Given the description of an element on the screen output the (x, y) to click on. 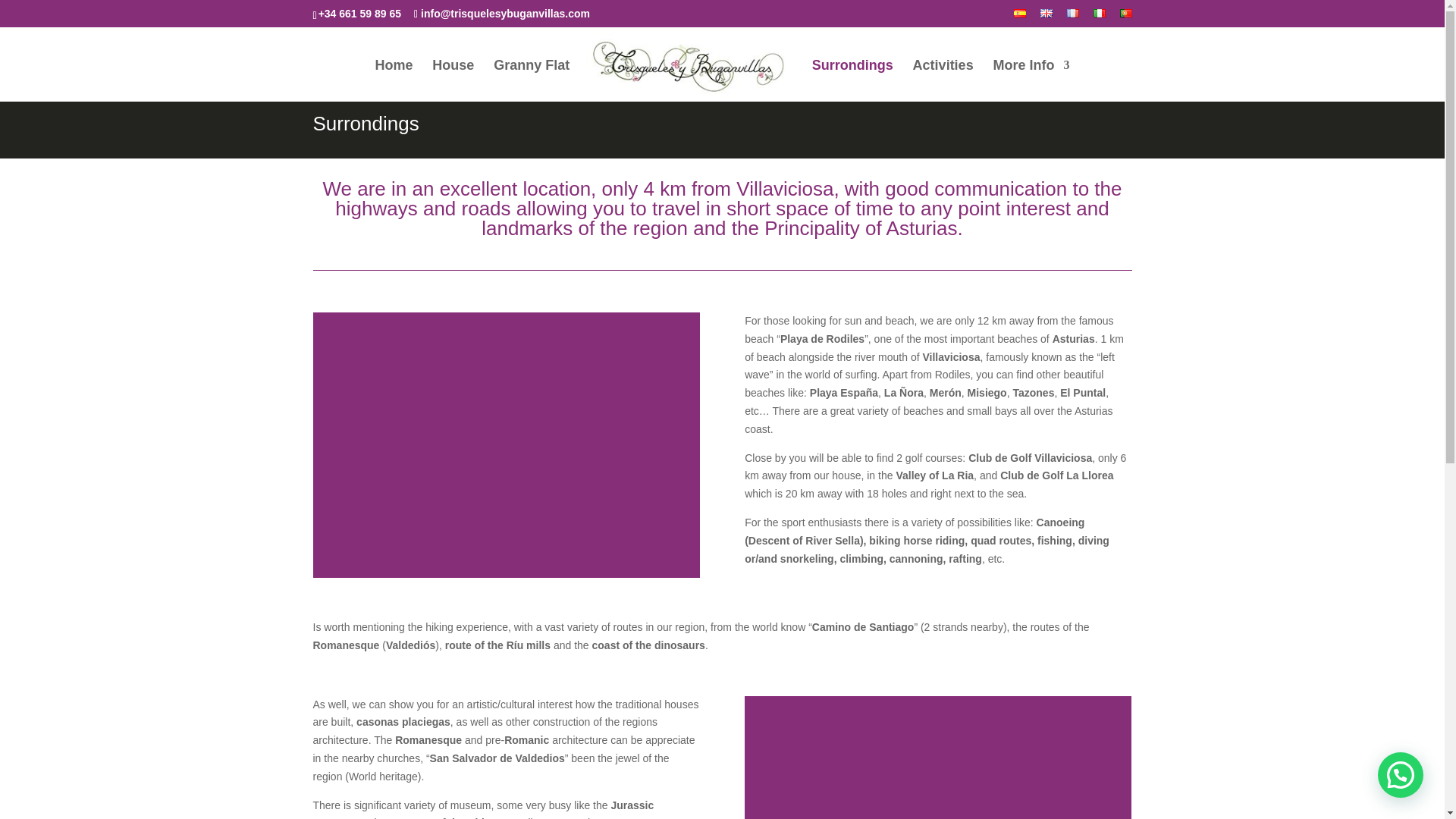
Activities (943, 80)
More Info (1031, 80)
Surrondings (852, 80)
Home (393, 80)
House (453, 80)
Granny Flat (531, 80)
